Given the description of an element on the screen output the (x, y) to click on. 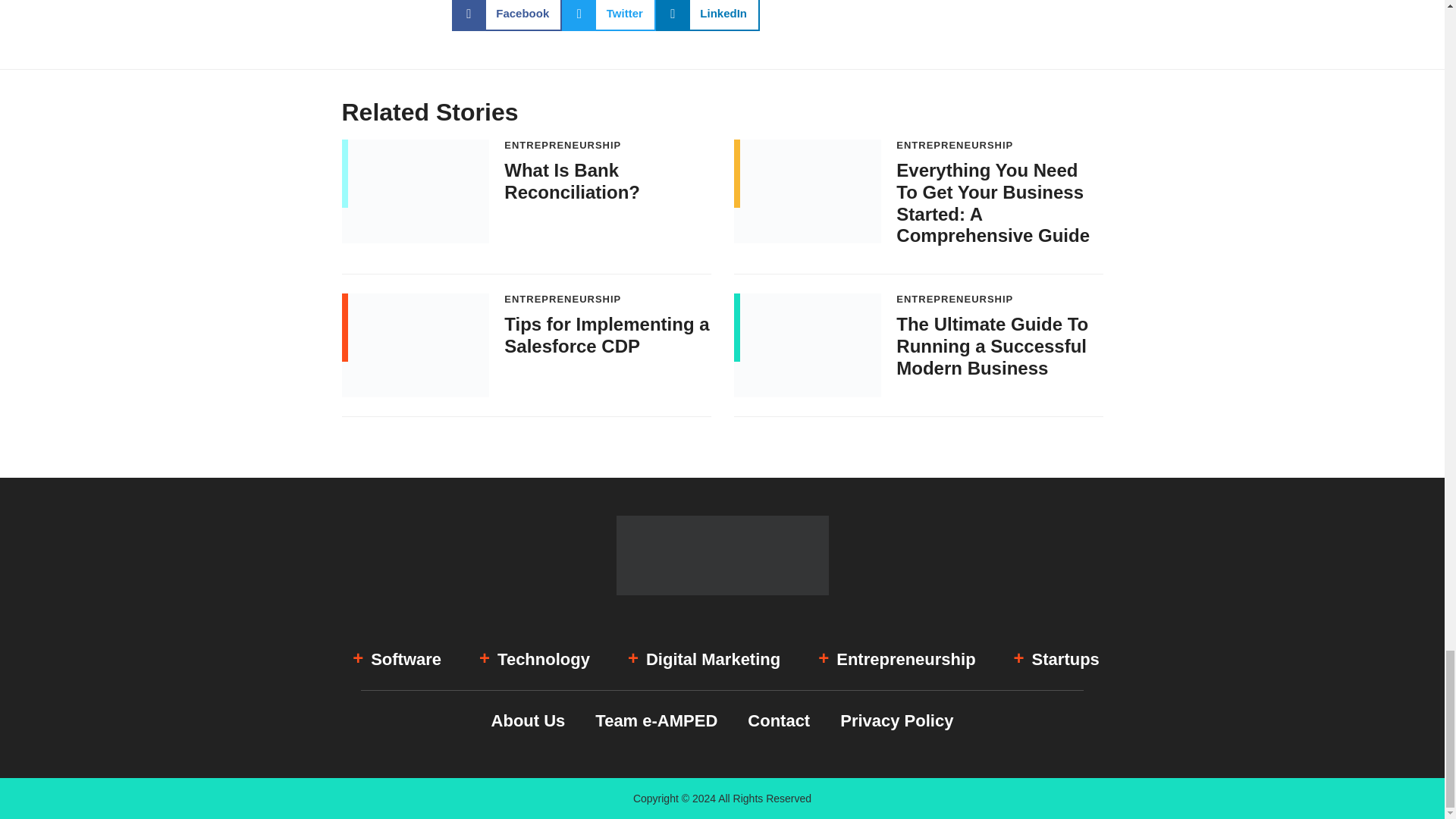
ENTREPRENEURSHIP (562, 144)
What Is Bank Reconciliation? (571, 180)
